Given the description of an element on the screen output the (x, y) to click on. 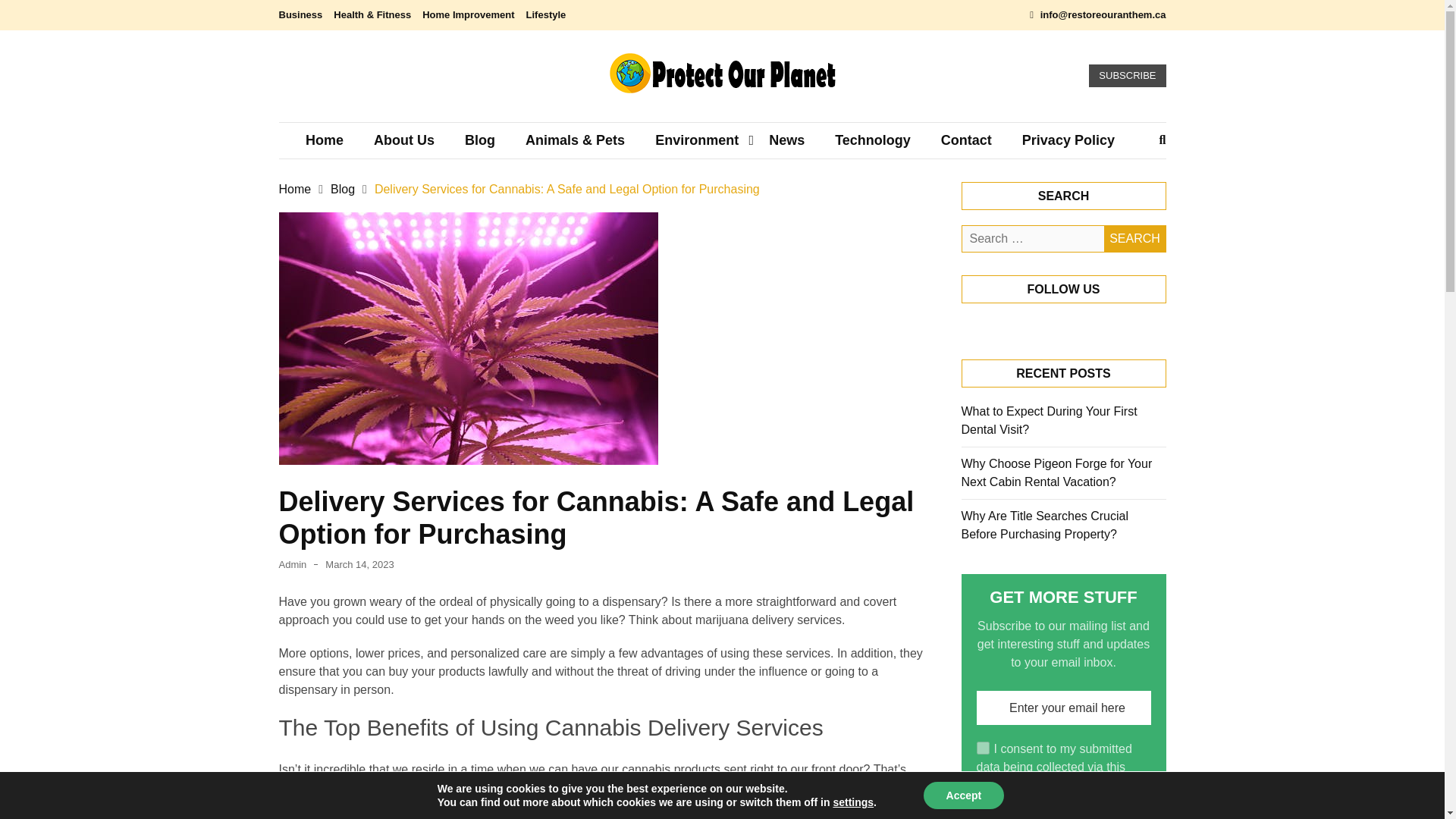
on (983, 748)
Home (323, 140)
Protect Our Planet (625, 115)
Technology (872, 140)
Contact (966, 140)
About Us (403, 140)
News (786, 140)
Search (1134, 238)
SUBSCRIBE (1127, 75)
Blog (480, 140)
